Given the description of an element on the screen output the (x, y) to click on. 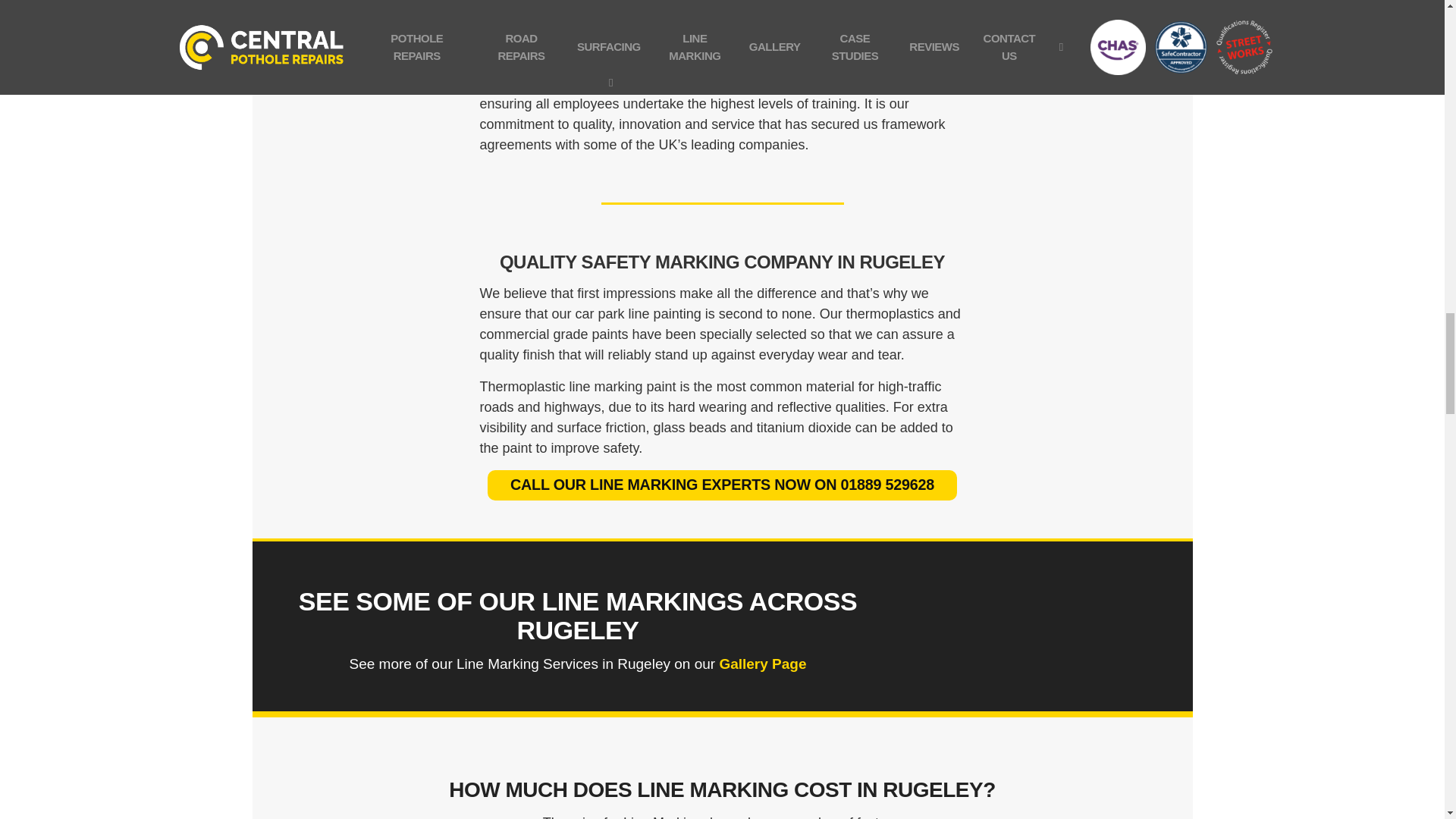
CALL OUR LINE MARKING EXPERTS NOW ON 01889 529628 (721, 485)
